Given the description of an element on the screen output the (x, y) to click on. 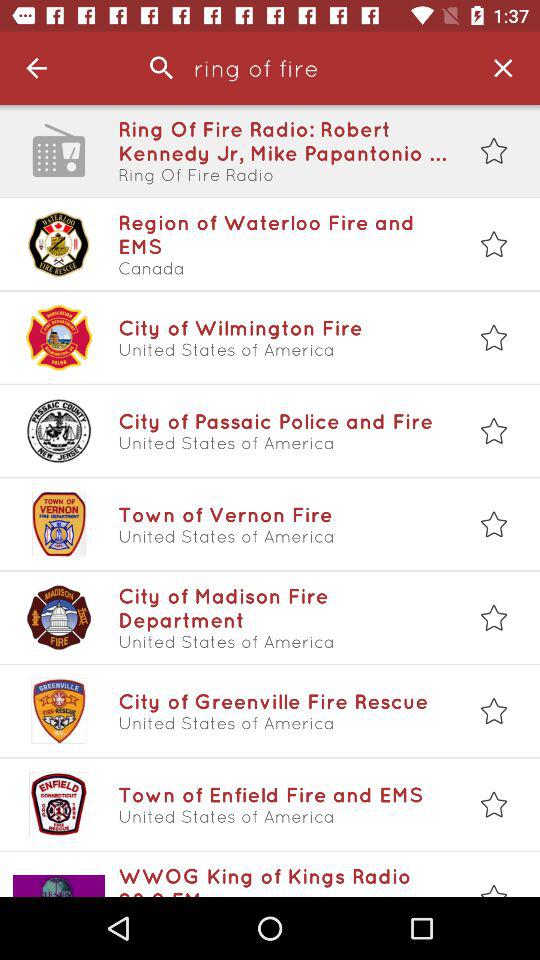
select wwog king of (283, 879)
